Given the description of an element on the screen output the (x, y) to click on. 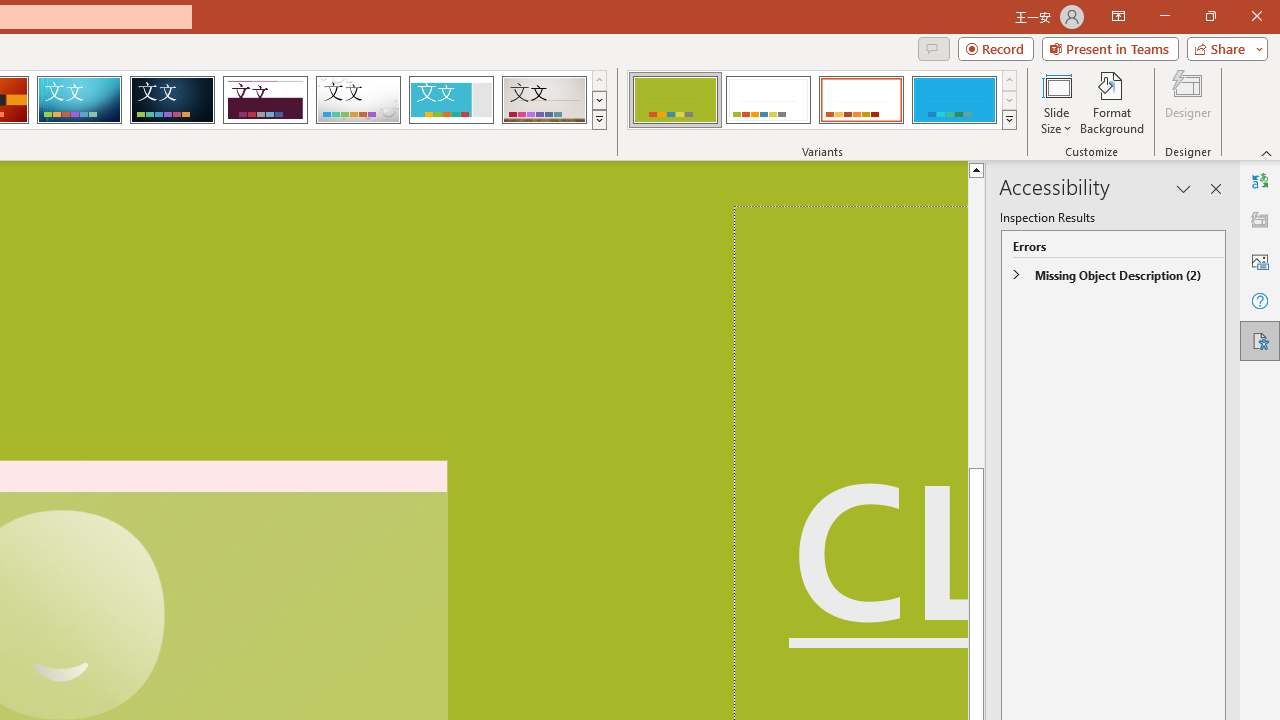
Themes (598, 120)
Circuit (79, 100)
Droplet (358, 100)
AutomationID: ThemeVariantsGallery (822, 99)
Slide Size (1056, 102)
Gallery (544, 100)
Basis Variant 1 (674, 100)
Basis Variant 4 (953, 100)
